Given the description of an element on the screen output the (x, y) to click on. 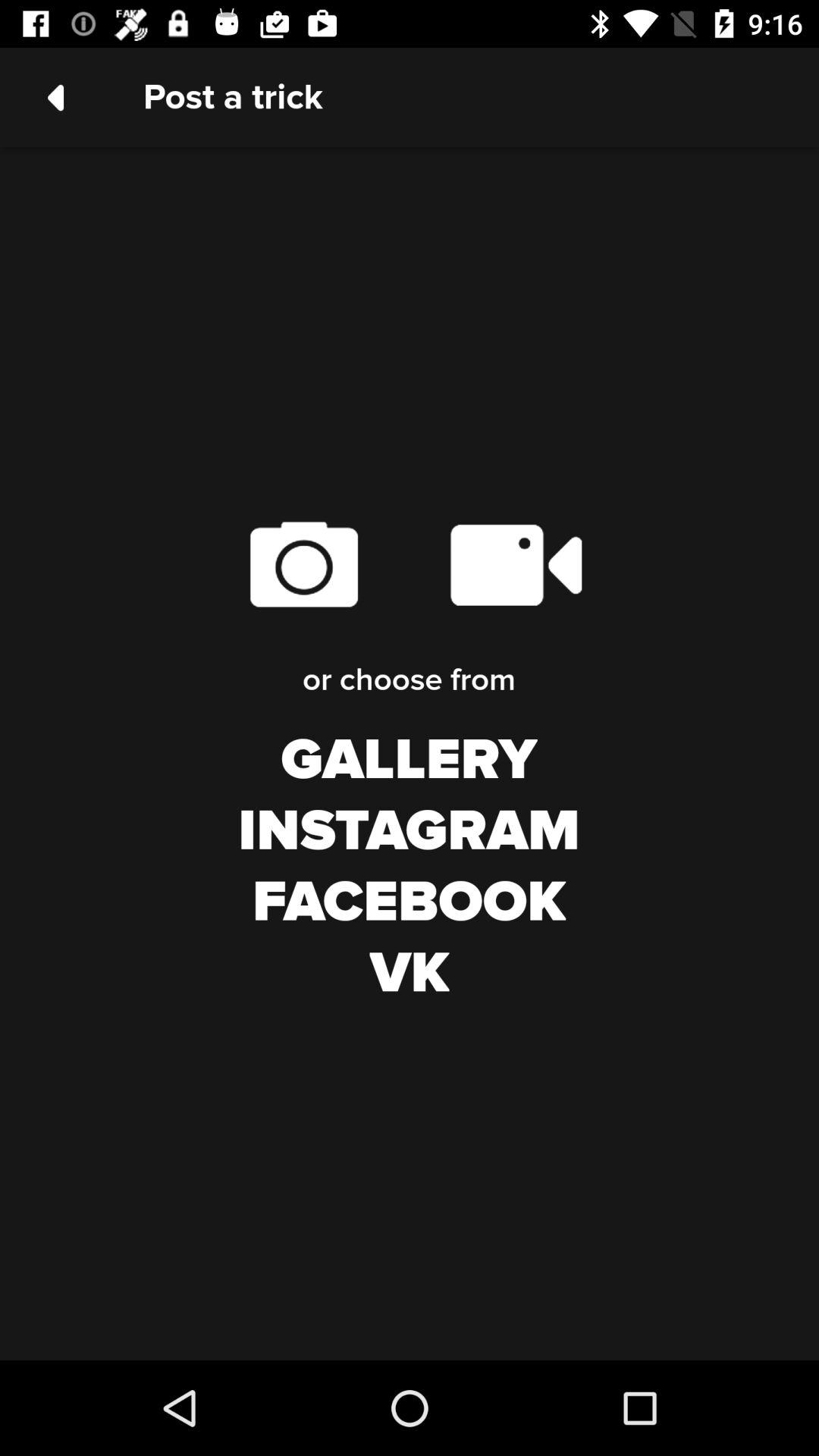
choose the item below the post a trick icon (303, 564)
